Given the description of an element on the screen output the (x, y) to click on. 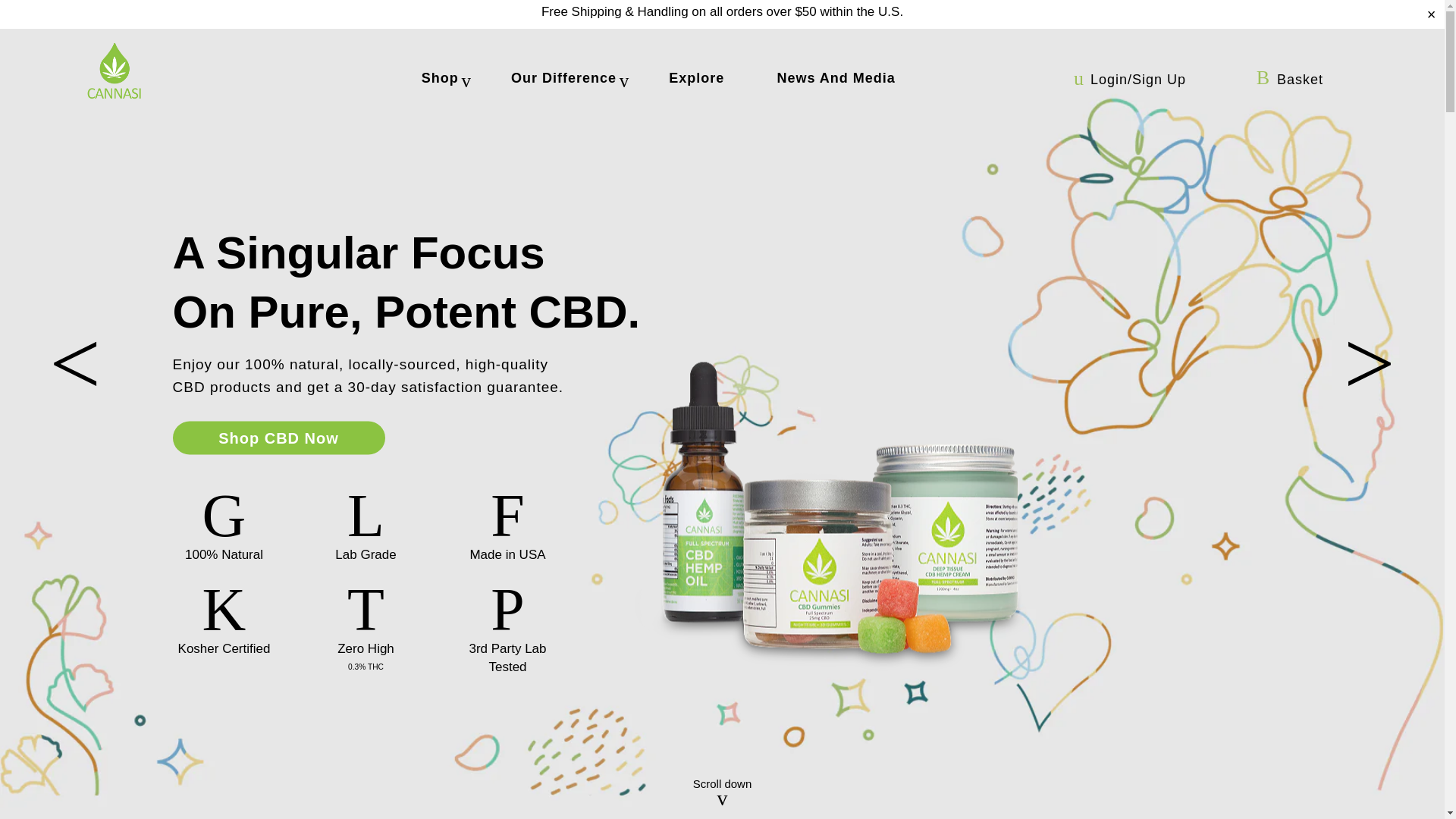
My Account  (1124, 79)
Basket (1289, 79)
Cannasi (114, 70)
